Given the description of an element on the screen output the (x, y) to click on. 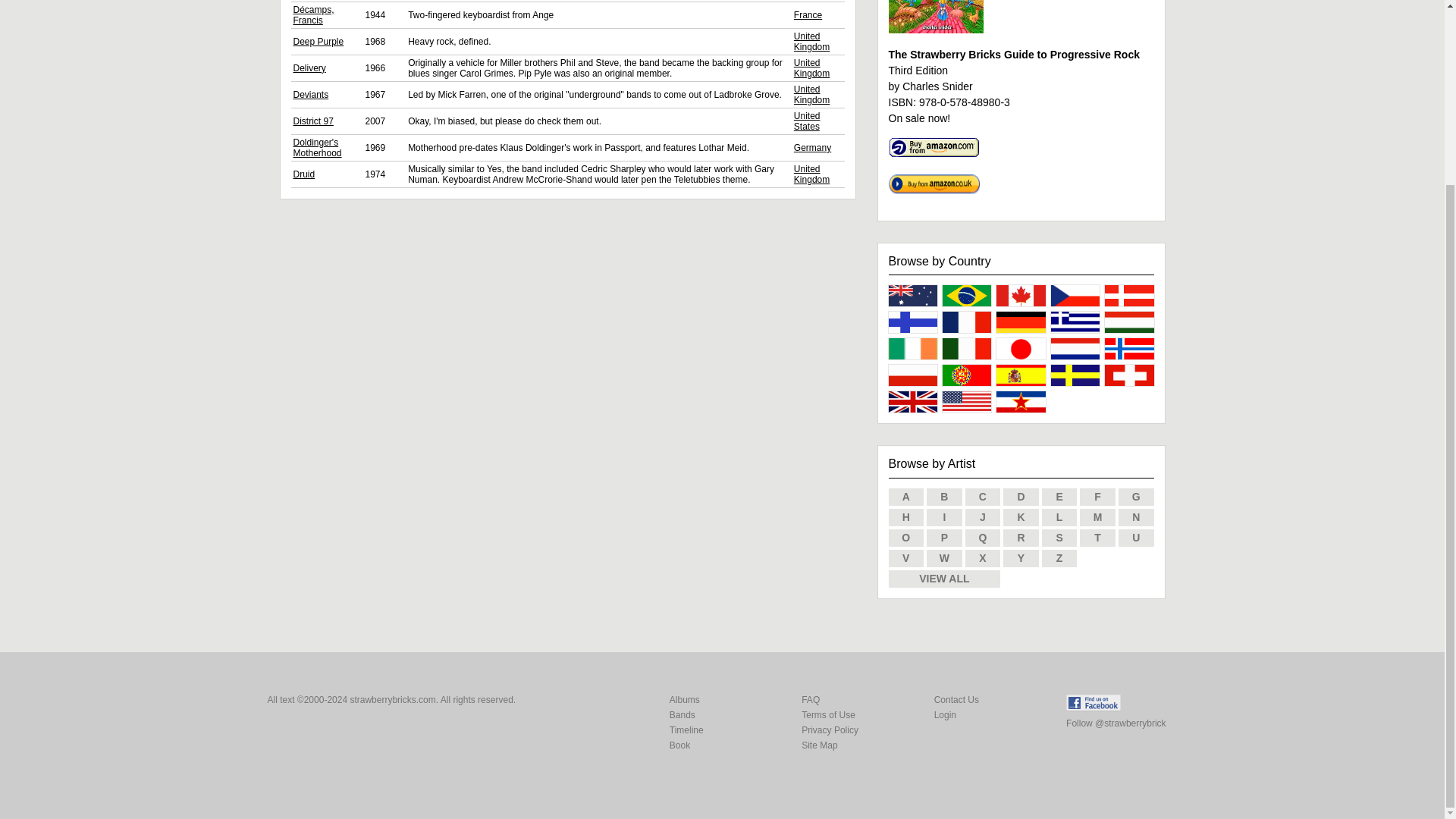
Deep Purple (317, 41)
Germany (812, 147)
United Kingdom (811, 174)
France (807, 14)
Doldinger's Motherhood (316, 147)
Delivery (308, 68)
United States (807, 120)
United Kingdom (811, 67)
District 97 (312, 121)
United Kingdom (811, 94)
United Kingdom (811, 41)
Druid (303, 173)
Deviants (310, 94)
